Given the description of an element on the screen output the (x, y) to click on. 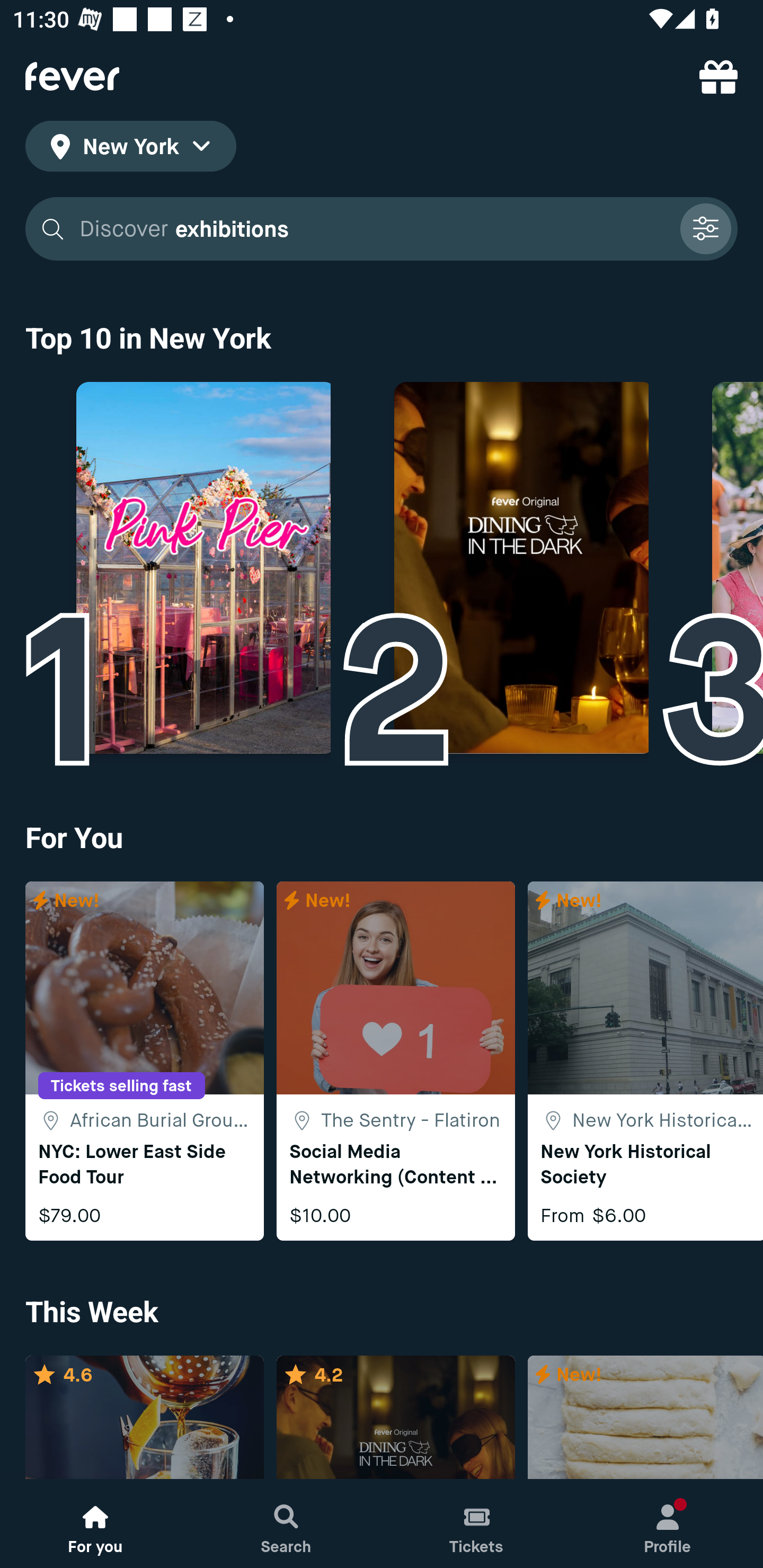
referral (718, 75)
location icon New York location icon (130, 149)
Discover exhibitions (381, 228)
Discover exhibitions (373, 228)
Search (285, 1523)
Tickets (476, 1523)
Profile, New notification Profile (667, 1523)
